Given the description of an element on the screen output the (x, y) to click on. 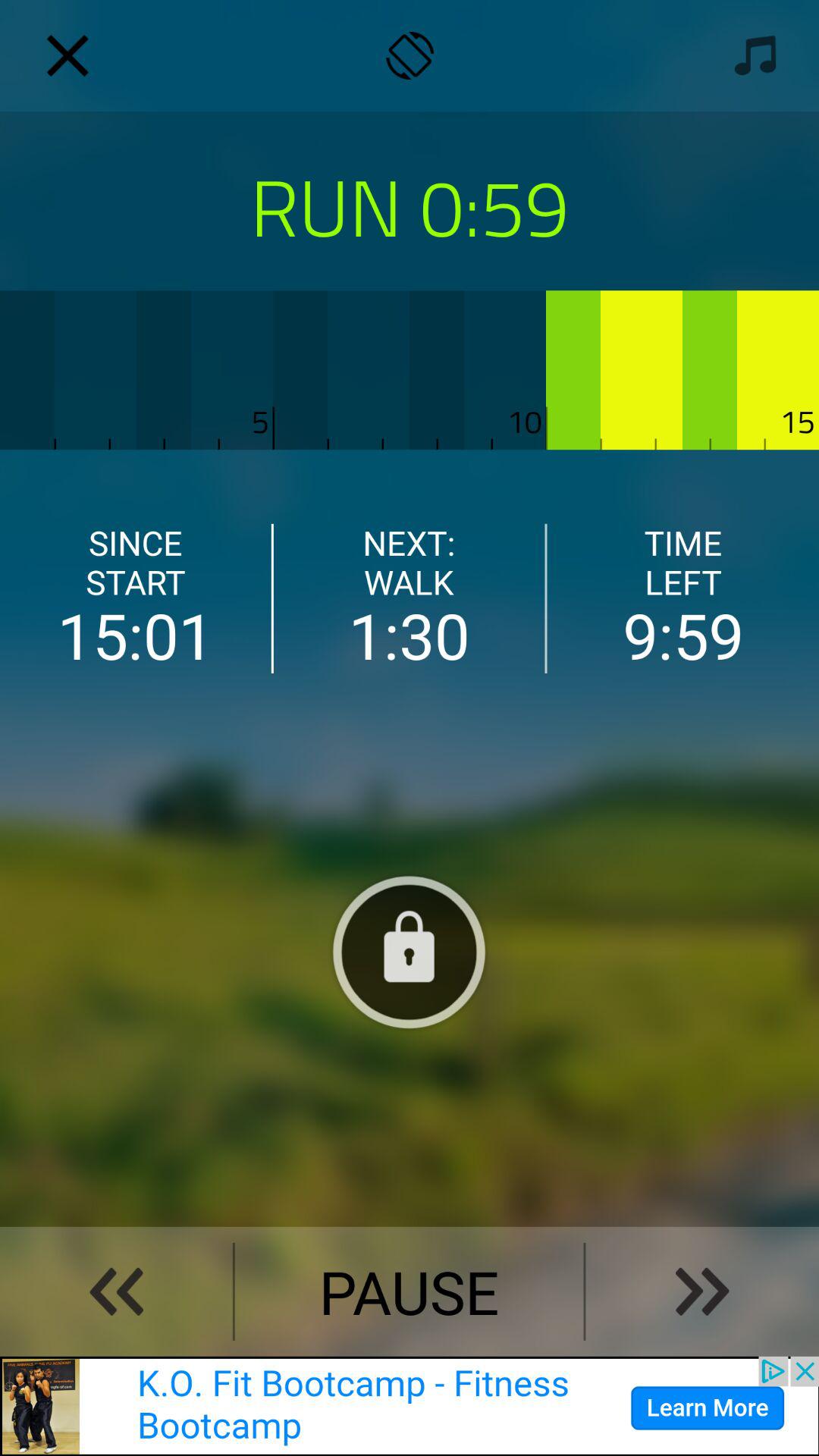
close out the screen (67, 55)
